Given the description of an element on the screen output the (x, y) to click on. 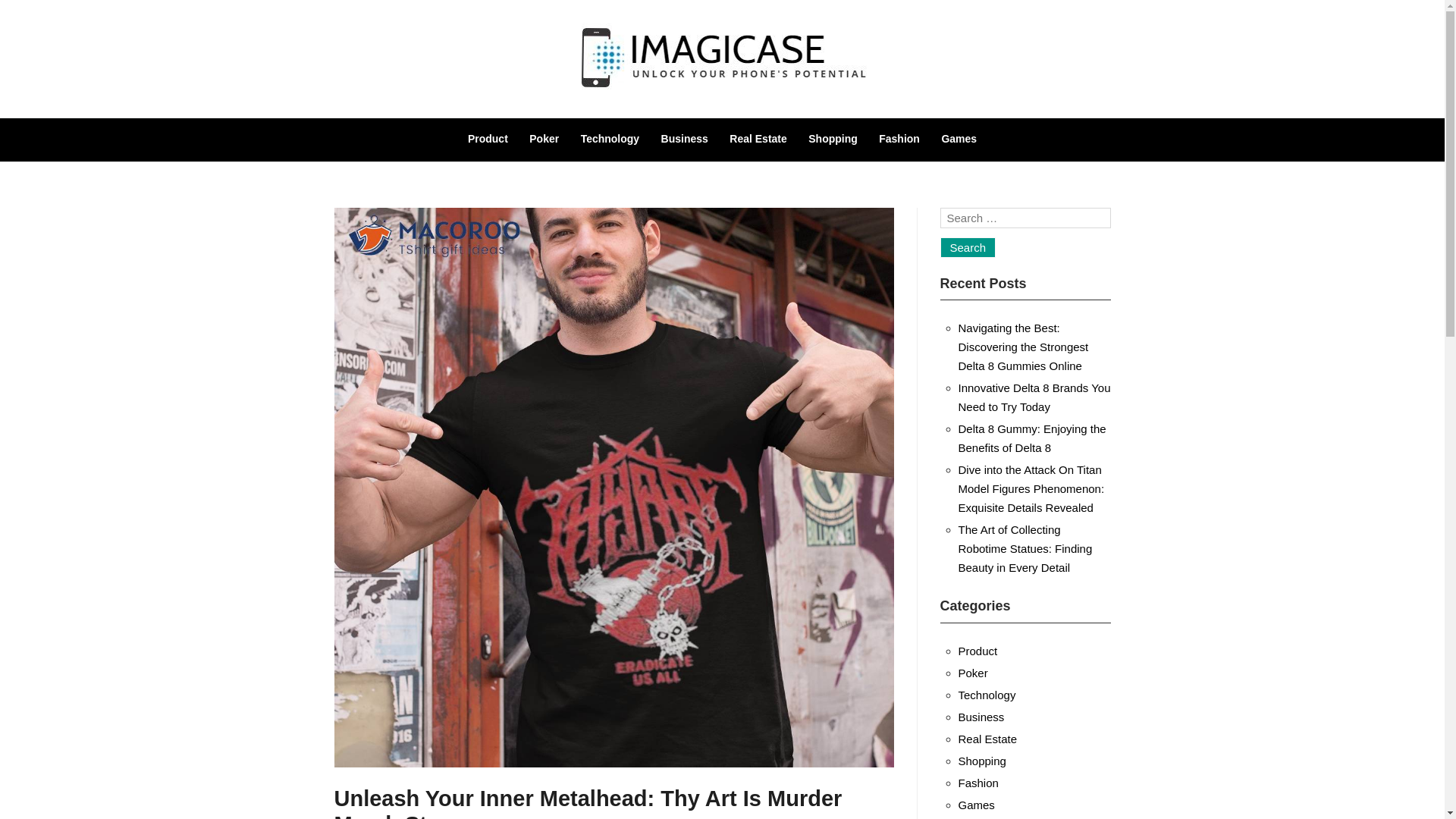
Real Estate (757, 138)
Delta 8 Gummy: Enjoying the Benefits of Delta 8 (1032, 438)
Product (487, 138)
Real Estate (987, 738)
Business (684, 138)
Search (967, 247)
Poker (973, 672)
Shopping (982, 760)
Poker (544, 138)
Fashion (978, 782)
Business (981, 716)
Technology (987, 694)
Shopping (832, 138)
